Given the description of an element on the screen output the (x, y) to click on. 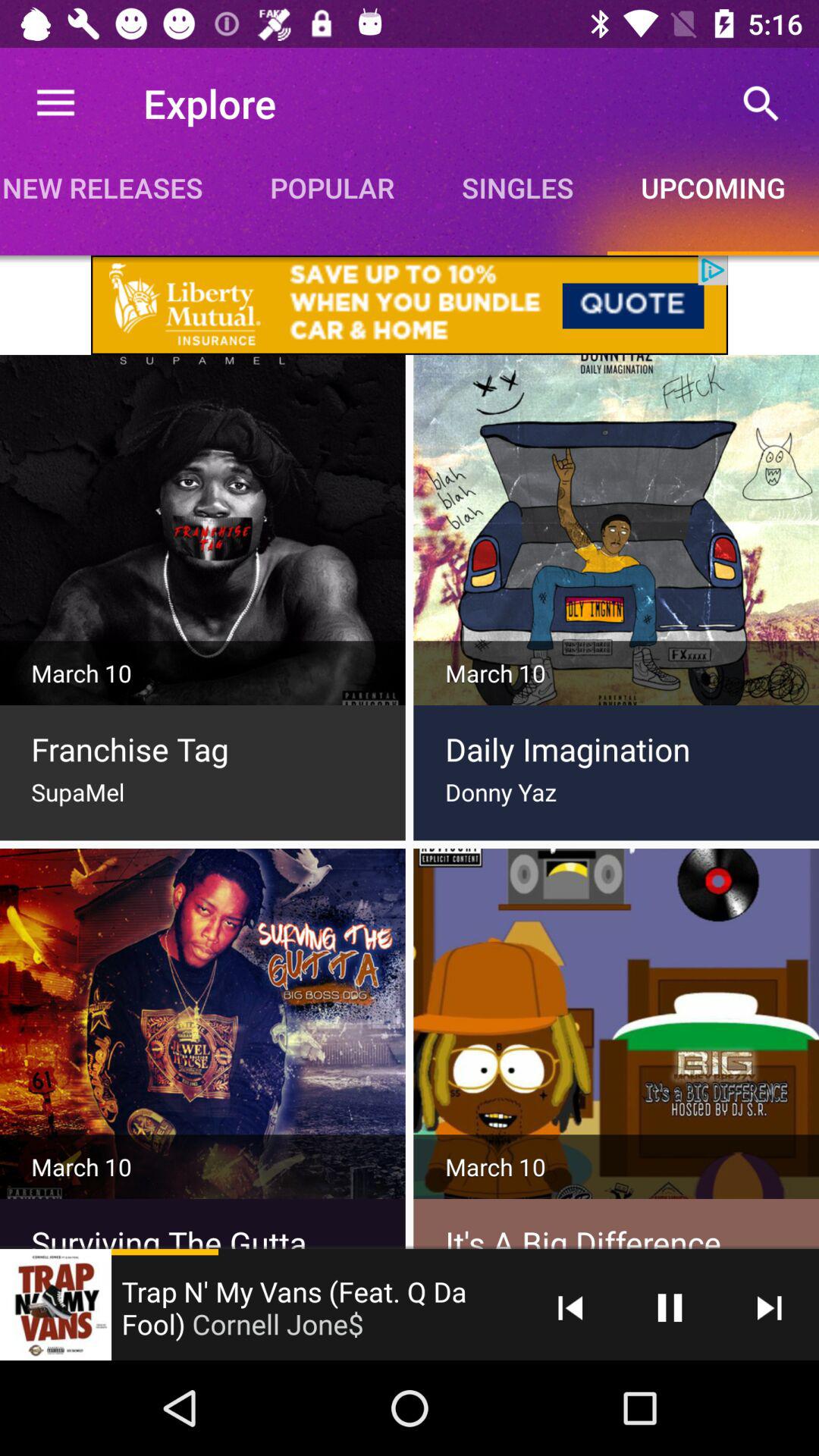
turn on the popular item (332, 187)
